Given the description of an element on the screen output the (x, y) to click on. 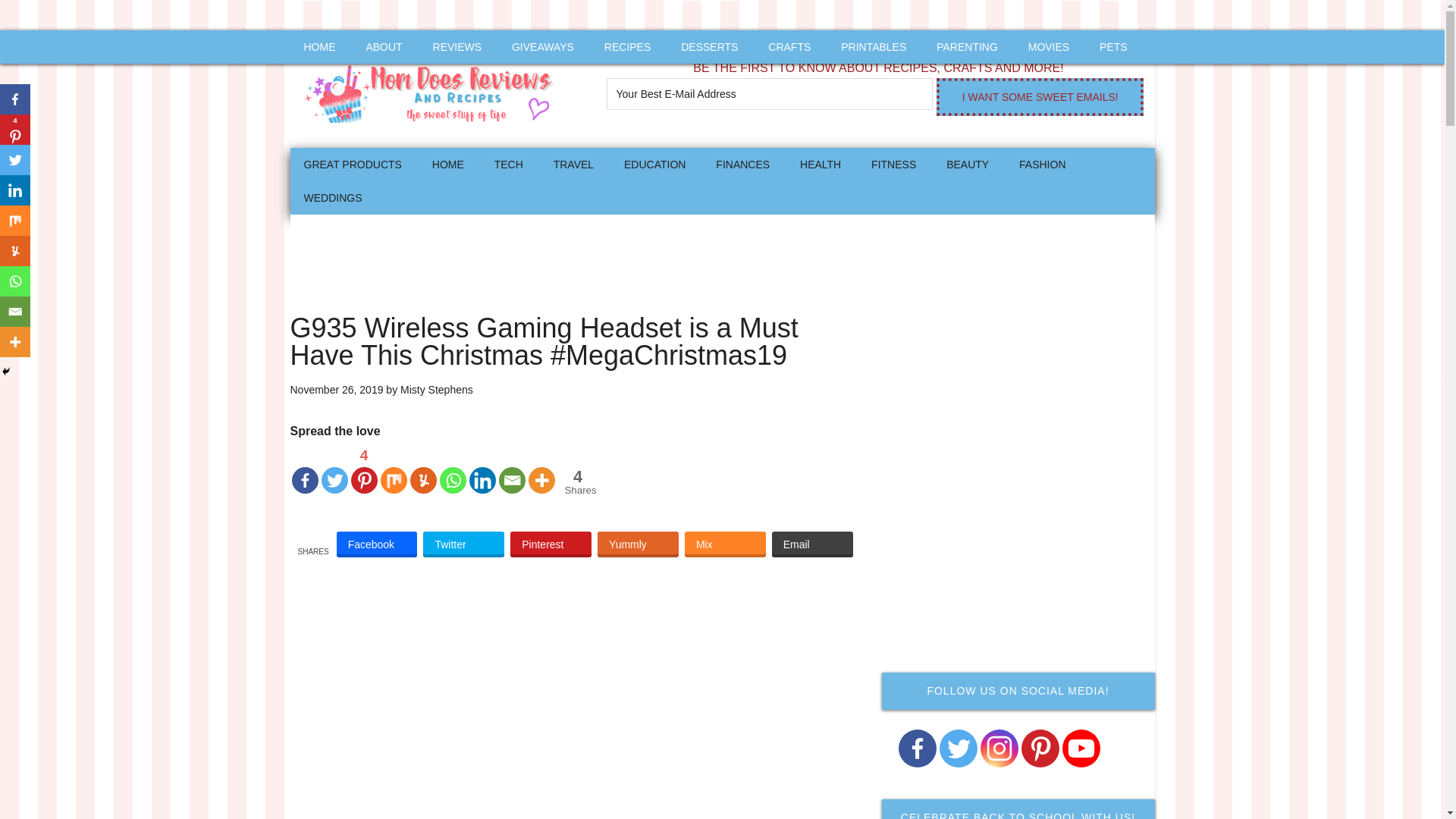
GIVEAWAYS (542, 46)
Total Shares (577, 481)
WEDDINGS (332, 197)
TECH (508, 164)
EDUCATION (654, 164)
Home (448, 164)
BEAUTY (968, 164)
TRAVEL (573, 164)
Mom Does Reviews (433, 88)
PRINTABLES (873, 46)
ABOUT (383, 46)
FINANCES (742, 164)
PARENTING (967, 46)
PETS (1113, 46)
FITNESS (893, 164)
